Given the description of an element on the screen output the (x, y) to click on. 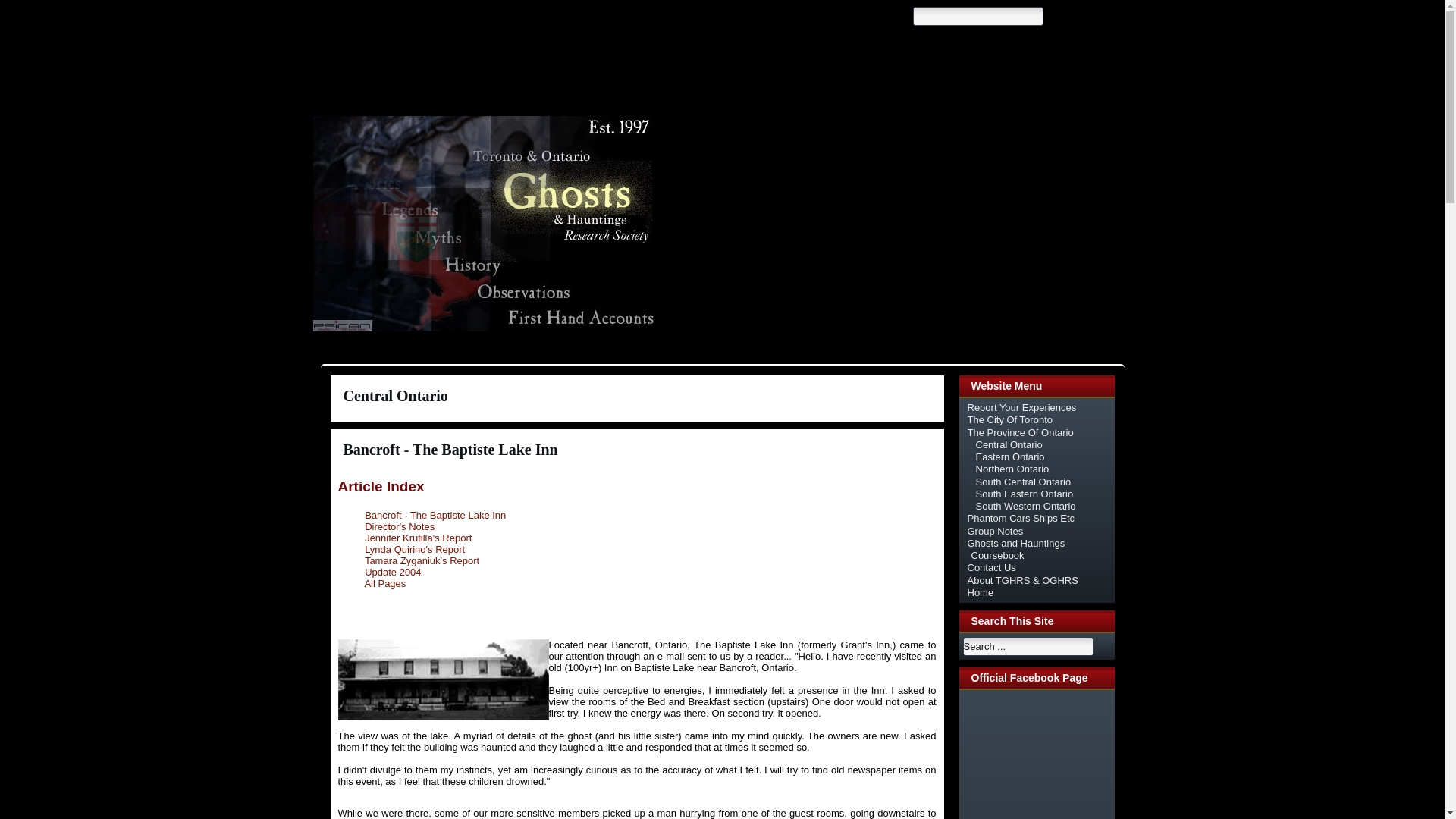
South Central Ontario (1022, 481)
Northern Ontario (1011, 469)
Group Notes (995, 530)
Bancroft - The Baptiste Lake Inn (435, 514)
The City Of Toronto (1010, 419)
All Pages (385, 583)
South Western Ontario (1025, 505)
Search ... (1027, 646)
Eastern Ontario (1009, 456)
Report Your Experiences (1022, 407)
